Given the description of an element on the screen output the (x, y) to click on. 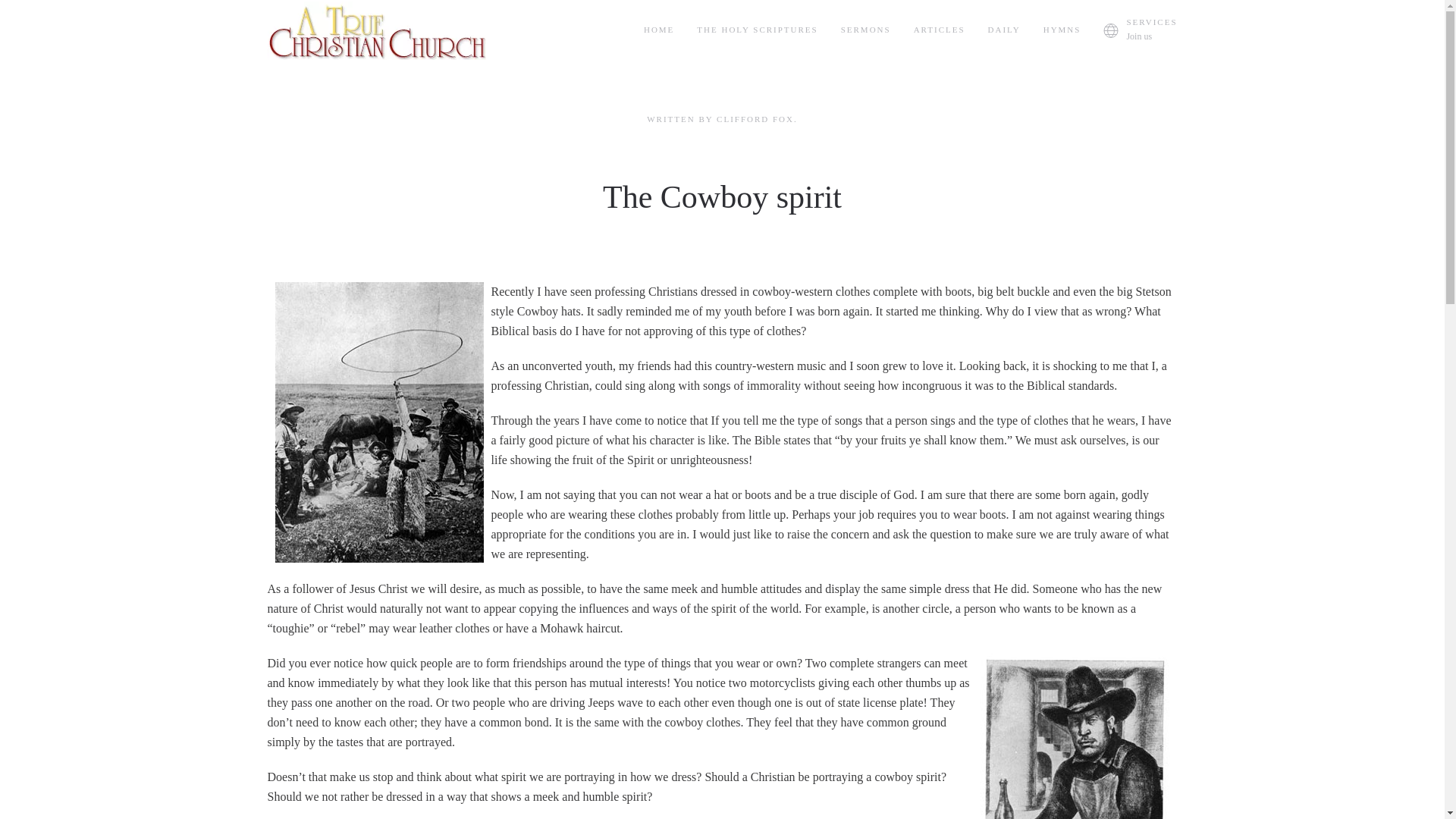
ARTICLES (939, 30)
THE HOLY SCRIPTURES (756, 30)
HOME (658, 30)
SERMONS (866, 30)
